Given the description of an element on the screen output the (x, y) to click on. 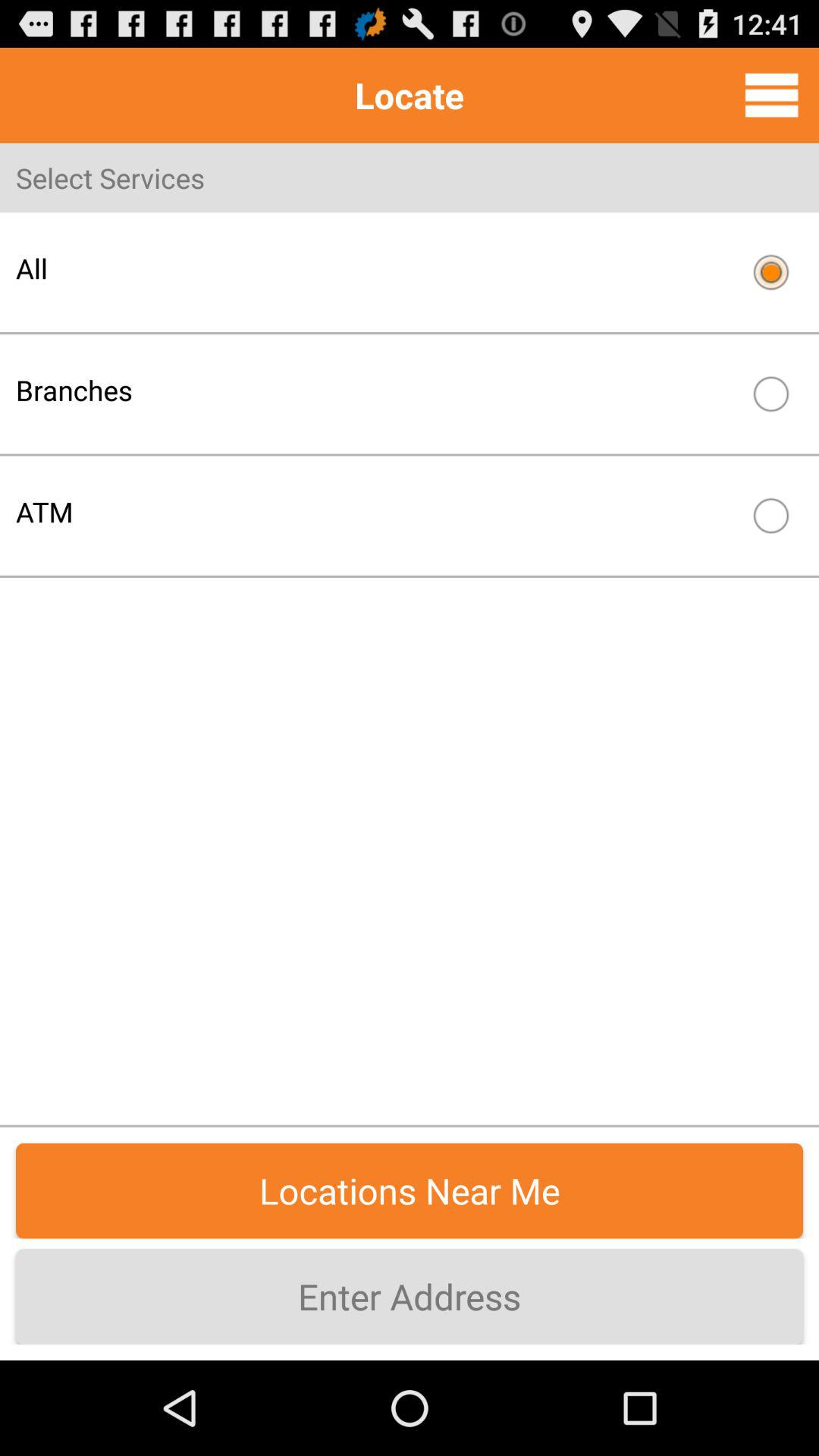
menu (771, 95)
